Given the description of an element on the screen output the (x, y) to click on. 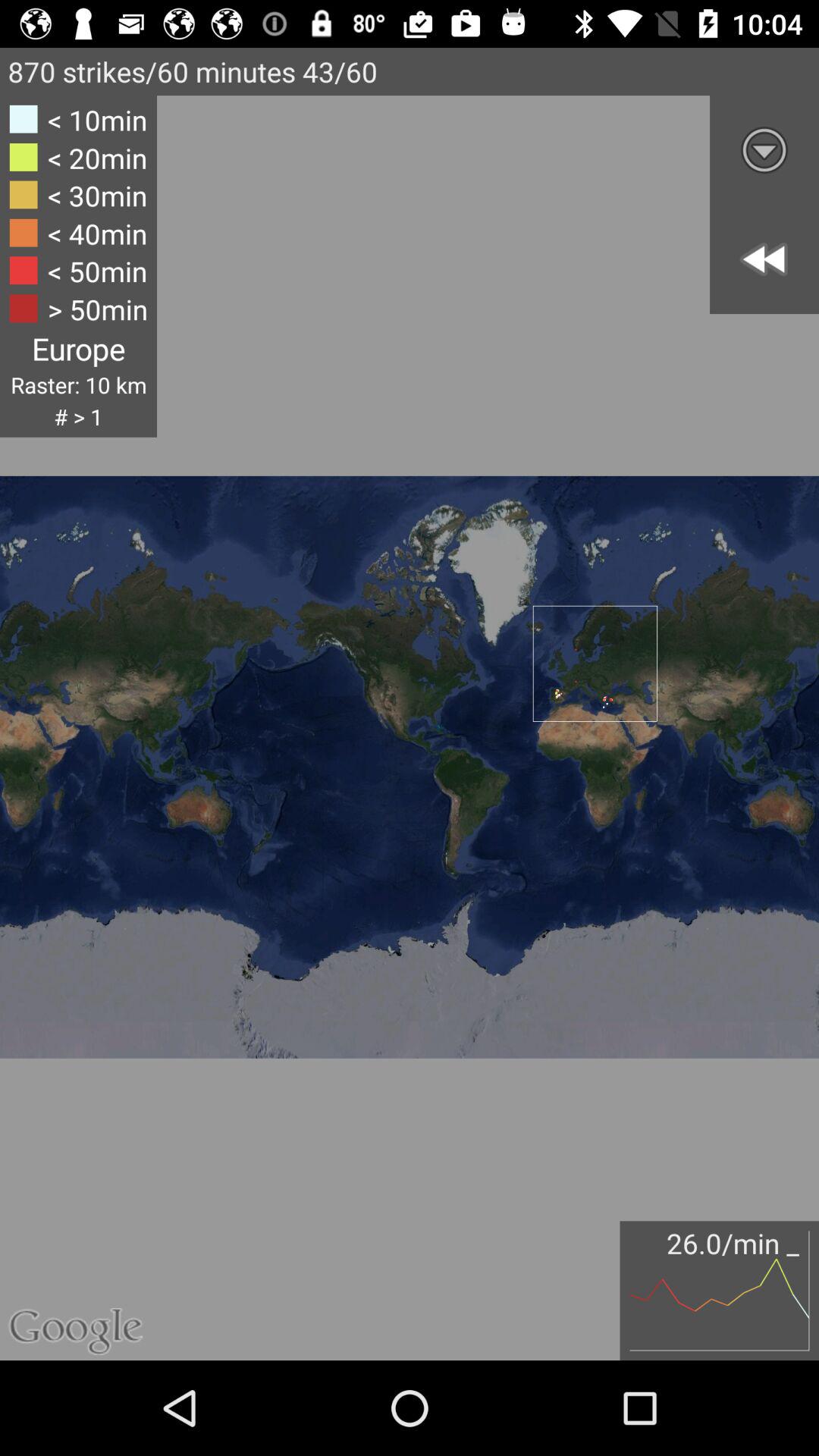
turn off the icon at the center (409, 703)
